Given the description of an element on the screen output the (x, y) to click on. 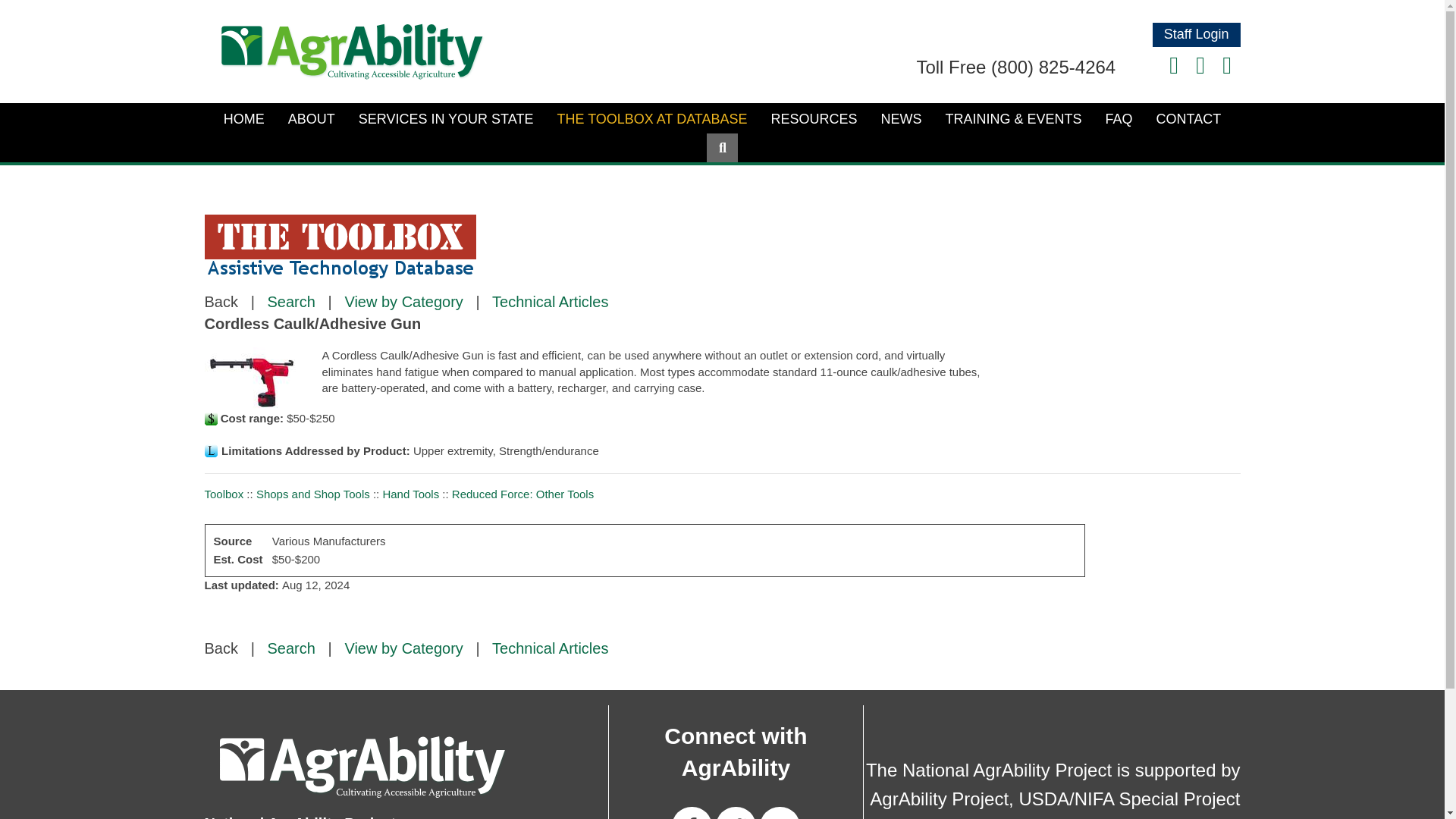
HOME (244, 118)
White Logo (363, 765)
Logo (351, 51)
CONTACT (1188, 118)
Limitations (210, 450)
Technical Articles (550, 647)
Facebook (1174, 65)
THE TOOLBOX AT DATABASE (651, 118)
FAQ (1119, 118)
Back (221, 301)
